Given the description of an element on the screen output the (x, y) to click on. 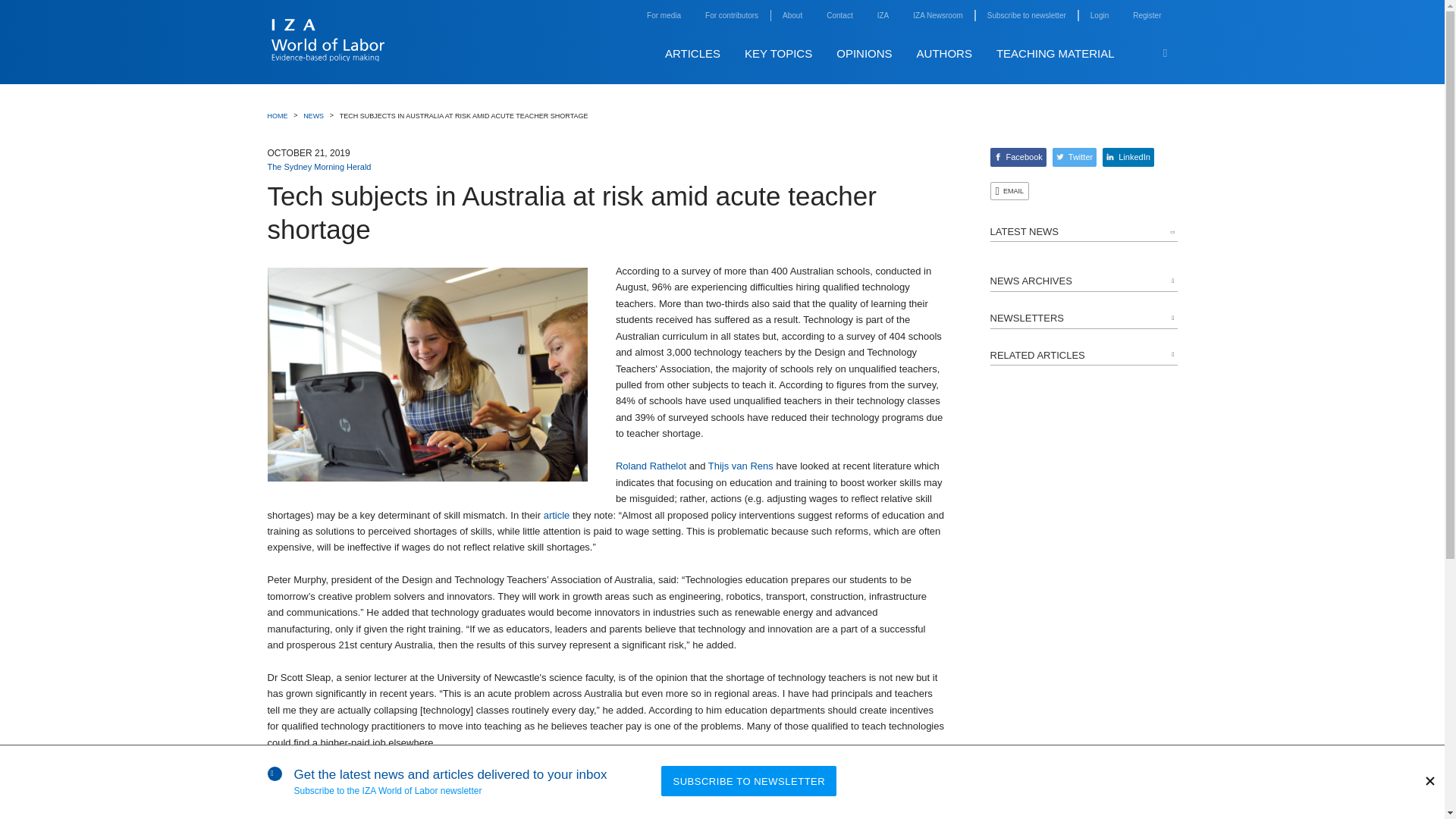
Skip to main content (1189, 37)
contact (839, 15)
IZA Newsroom (937, 15)
register (1146, 15)
for contributors (731, 15)
ARTICLES (692, 52)
Login (1099, 15)
For media (663, 15)
subscribe to newsletter (1026, 15)
about (792, 15)
